Given the description of an element on the screen output the (x, y) to click on. 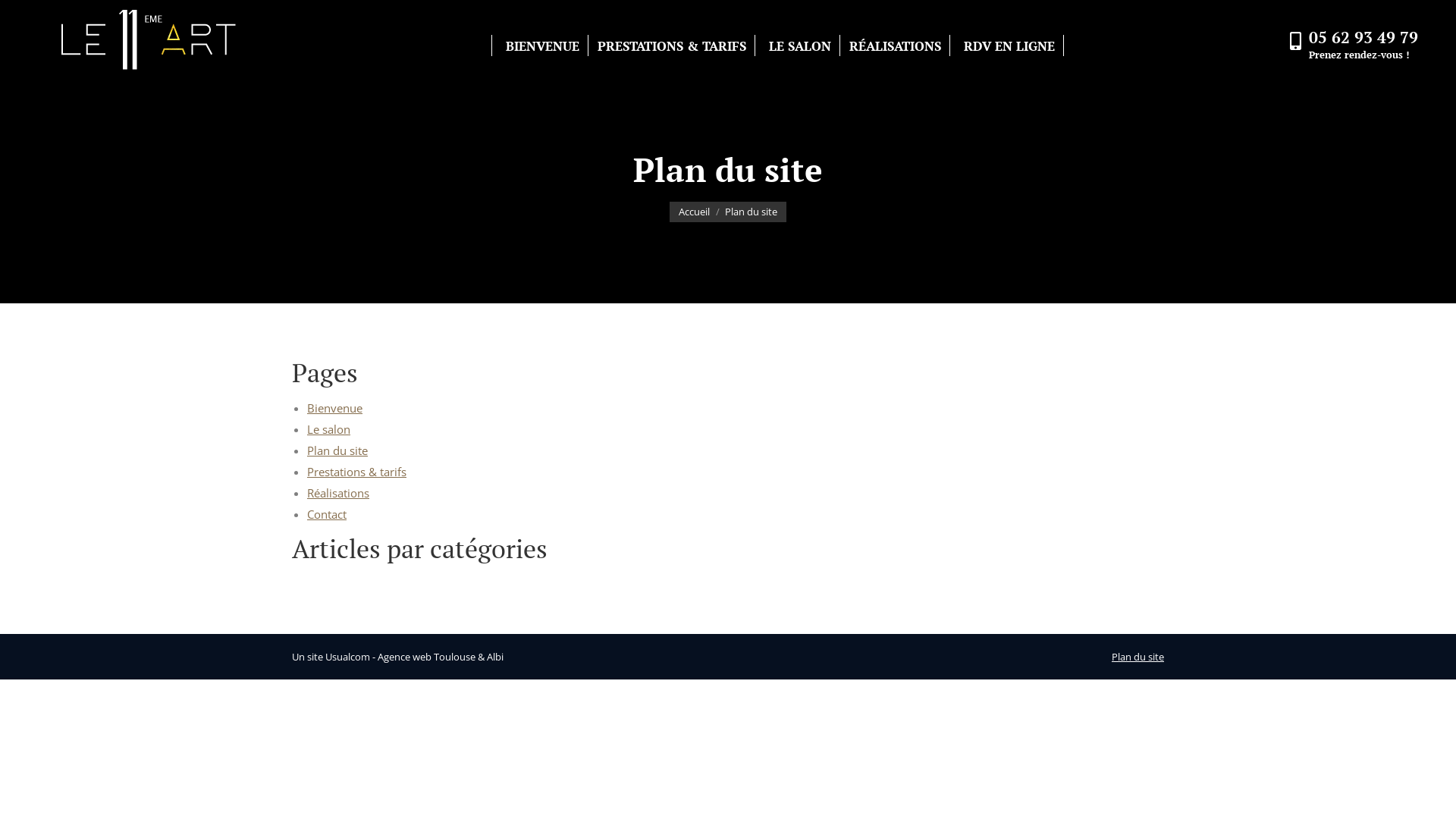
Accueil Element type: text (693, 211)
BIENVENUE Element type: text (540, 44)
LE SALON Element type: text (796, 44)
Bienvenue Element type: text (334, 407)
Le salon Element type: text (328, 428)
Contact Element type: text (326, 513)
Prestations & tarifs Element type: text (356, 471)
PRESTATIONS & TARIFS Element type: text (671, 44)
RDV EN LIGNE Element type: text (1006, 44)
Plan du site Element type: text (337, 450)
Plan du site Element type: text (1137, 656)
